Given the description of an element on the screen output the (x, y) to click on. 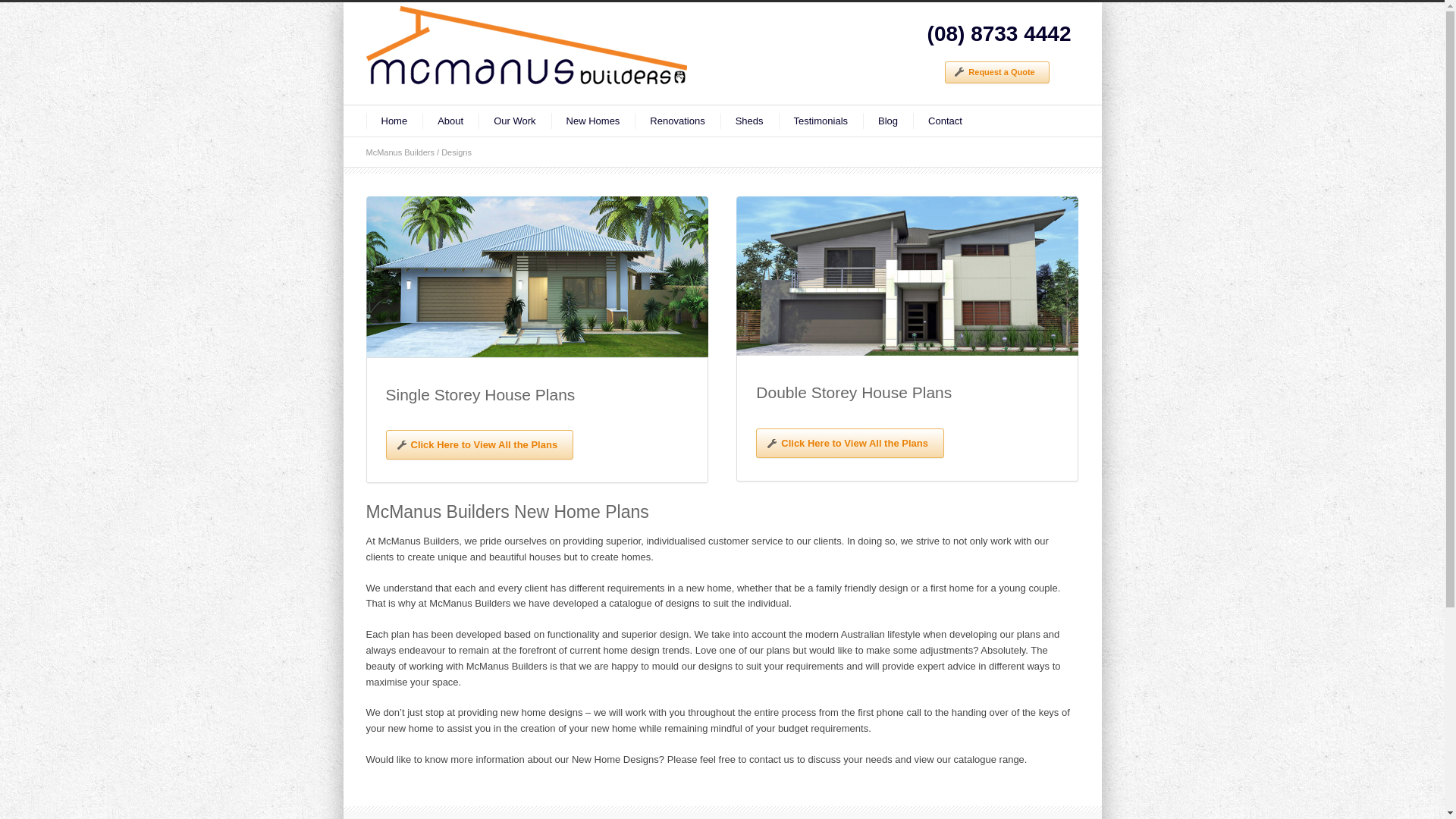
Home Element type: text (393, 120)
Click Here to View All the Plans Element type: text (850, 443)
McManus Builders Element type: text (399, 151)
New Homes Element type: text (593, 120)
Click Here to View All the Plans Element type: text (479, 444)
Blog Element type: text (887, 120)
About Element type: text (450, 120)
Sheds Element type: text (749, 120)
Renovations Element type: text (676, 120)
Request a Quote Element type: text (996, 72)
Contact Element type: text (945, 120)
Testimonials Element type: text (820, 120)
Our Work Element type: text (514, 120)
